Given the description of an element on the screen output the (x, y) to click on. 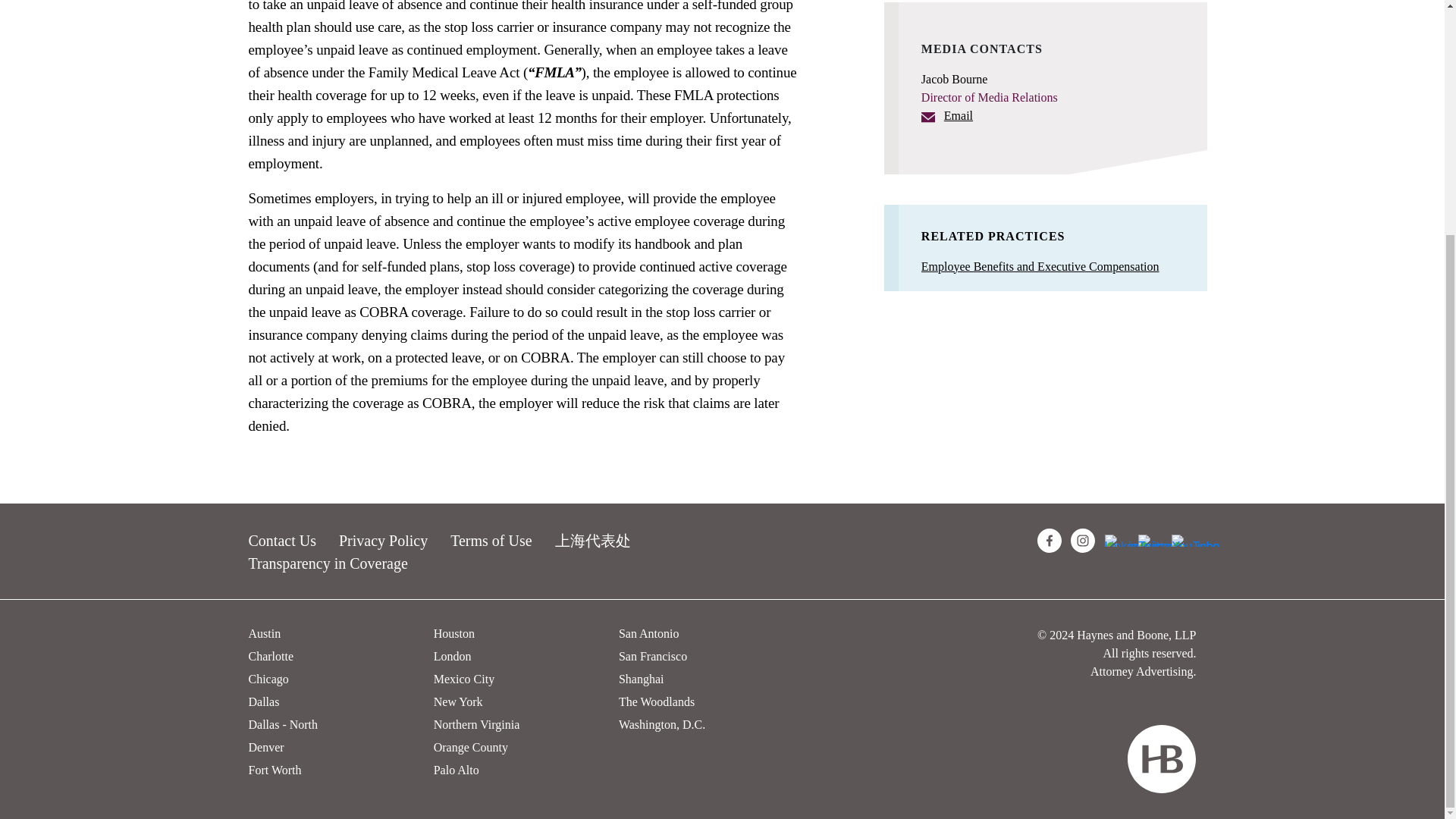
Combined Shape (1160, 758)
